Given the description of an element on the screen output the (x, y) to click on. 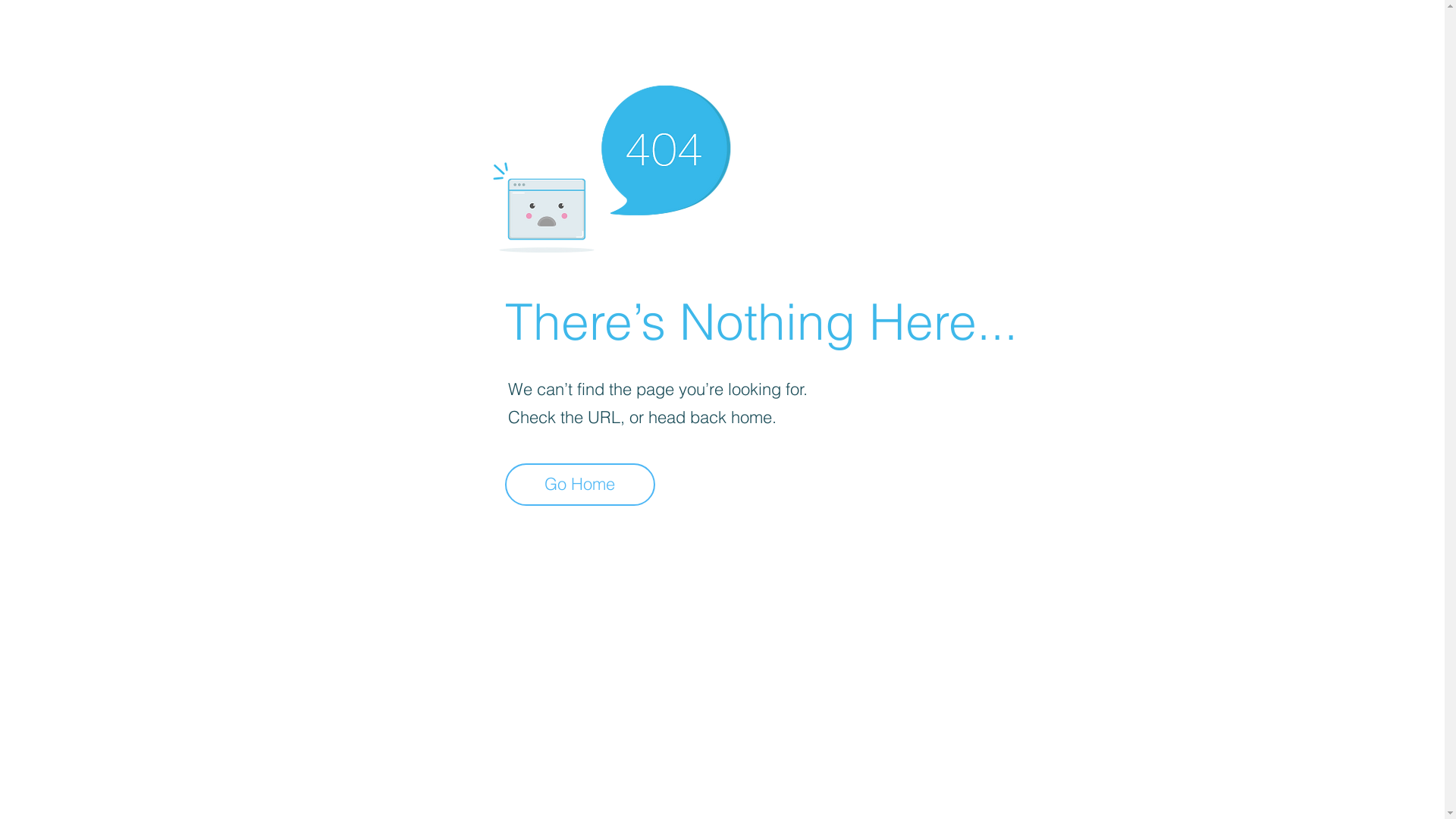
Go Home Element type: text (580, 484)
404-icon_2.png Element type: hover (610, 164)
